Given the description of an element on the screen output the (x, y) to click on. 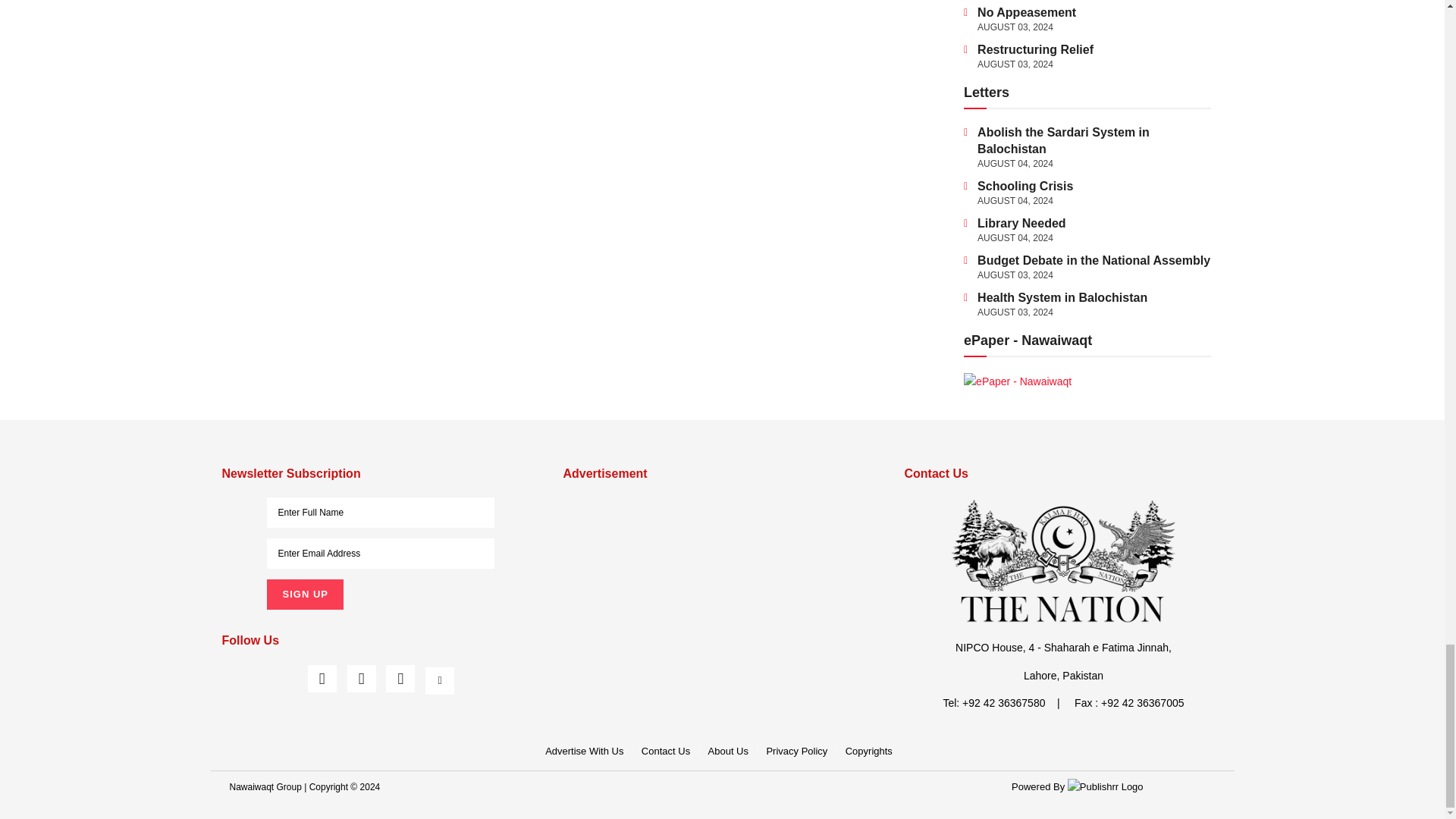
Sign up (304, 594)
